Given the description of an element on the screen output the (x, y) to click on. 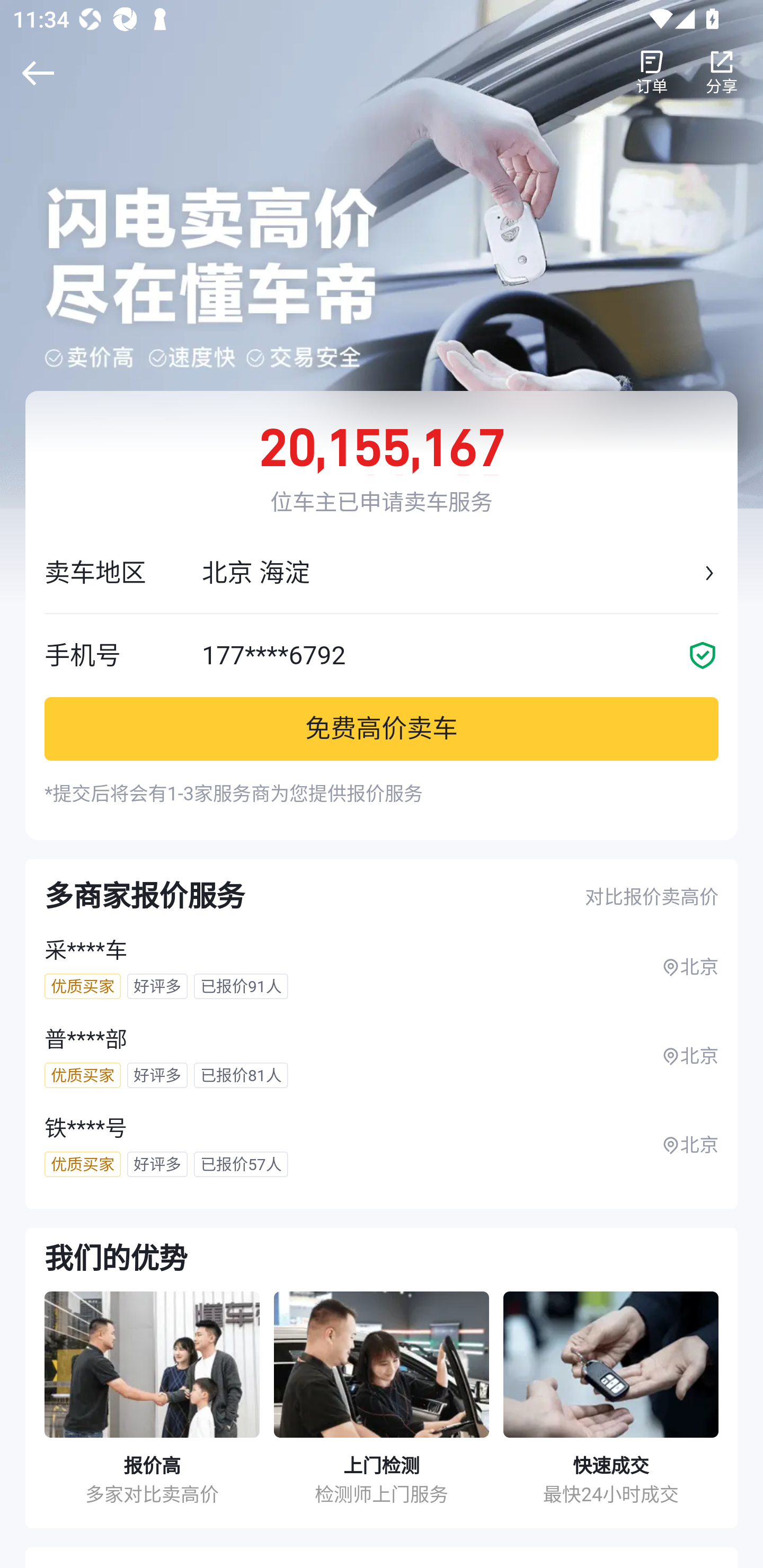
订单 (651, 72)
分享 (721, 72)
北京 海淀 (450, 572)
177****6792 (460, 655)
免费高价卖车 (381, 728)
